Given the description of an element on the screen output the (x, y) to click on. 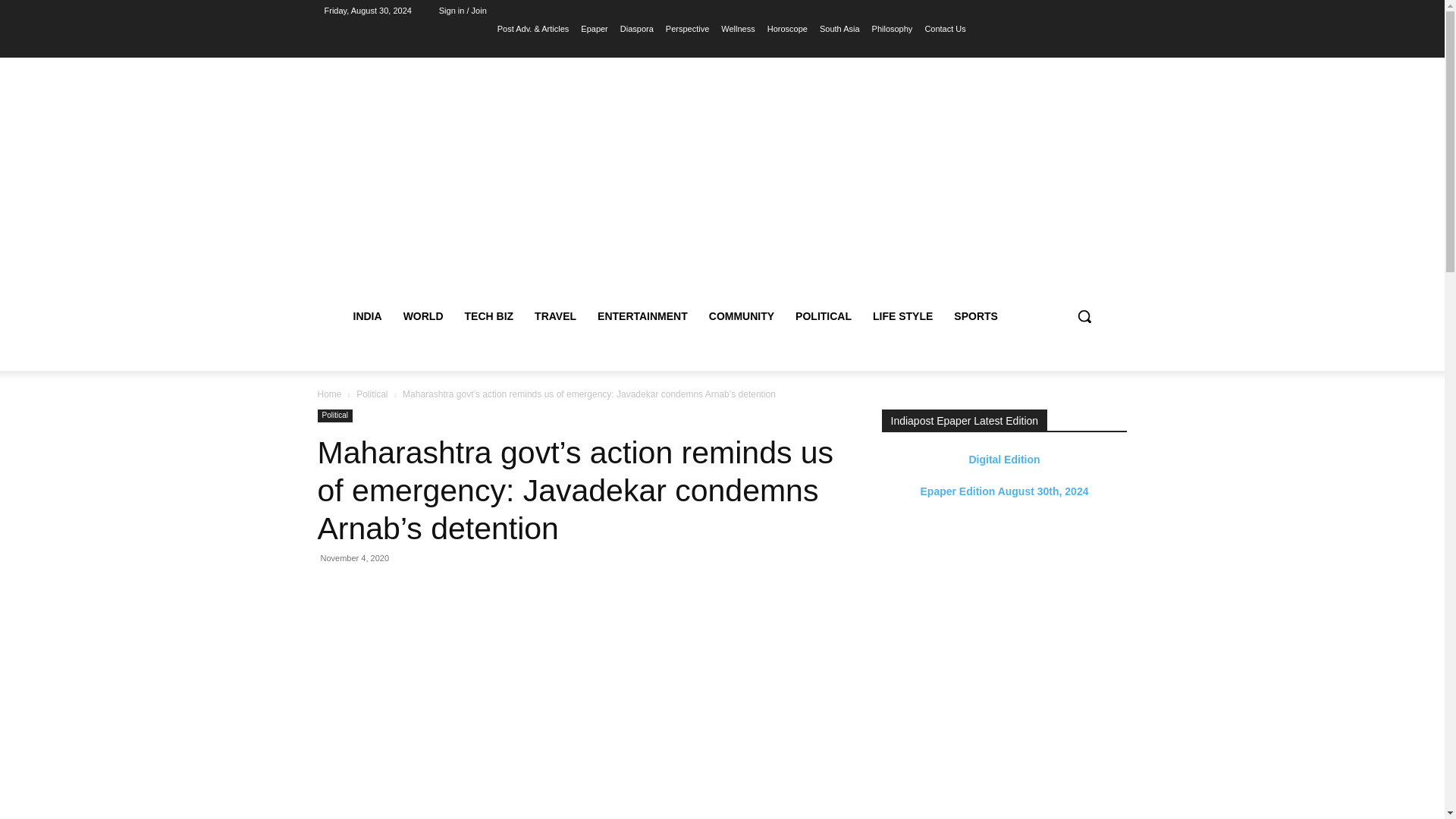
Contact Us (944, 28)
Perspective (687, 28)
Political (371, 394)
View all posts in Political (371, 394)
Diaspora (636, 28)
INDIA (367, 316)
POLITICAL (822, 316)
TRAVEL (555, 316)
Political (334, 415)
Philosophy (892, 28)
